Given the description of an element on the screen output the (x, y) to click on. 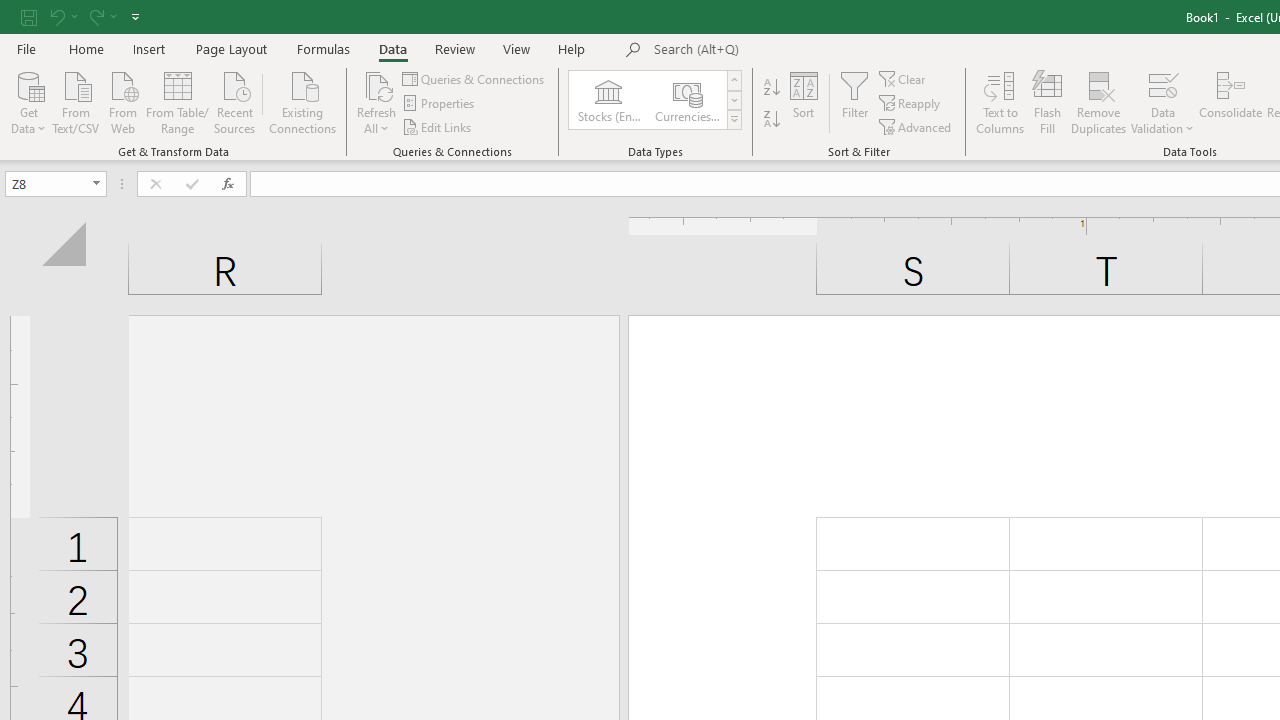
Consolidate... (1230, 102)
Properties (440, 103)
Refresh All (376, 102)
Insert (149, 48)
Open (96, 183)
Save (29, 15)
Flash Fill (1047, 102)
Remove Duplicates (1098, 102)
AutomationID: ConvertToLinkedEntity (655, 99)
More Options (1162, 121)
From Web (122, 101)
Text to Columns... (1000, 102)
Clear (903, 78)
